Given the description of an element on the screen output the (x, y) to click on. 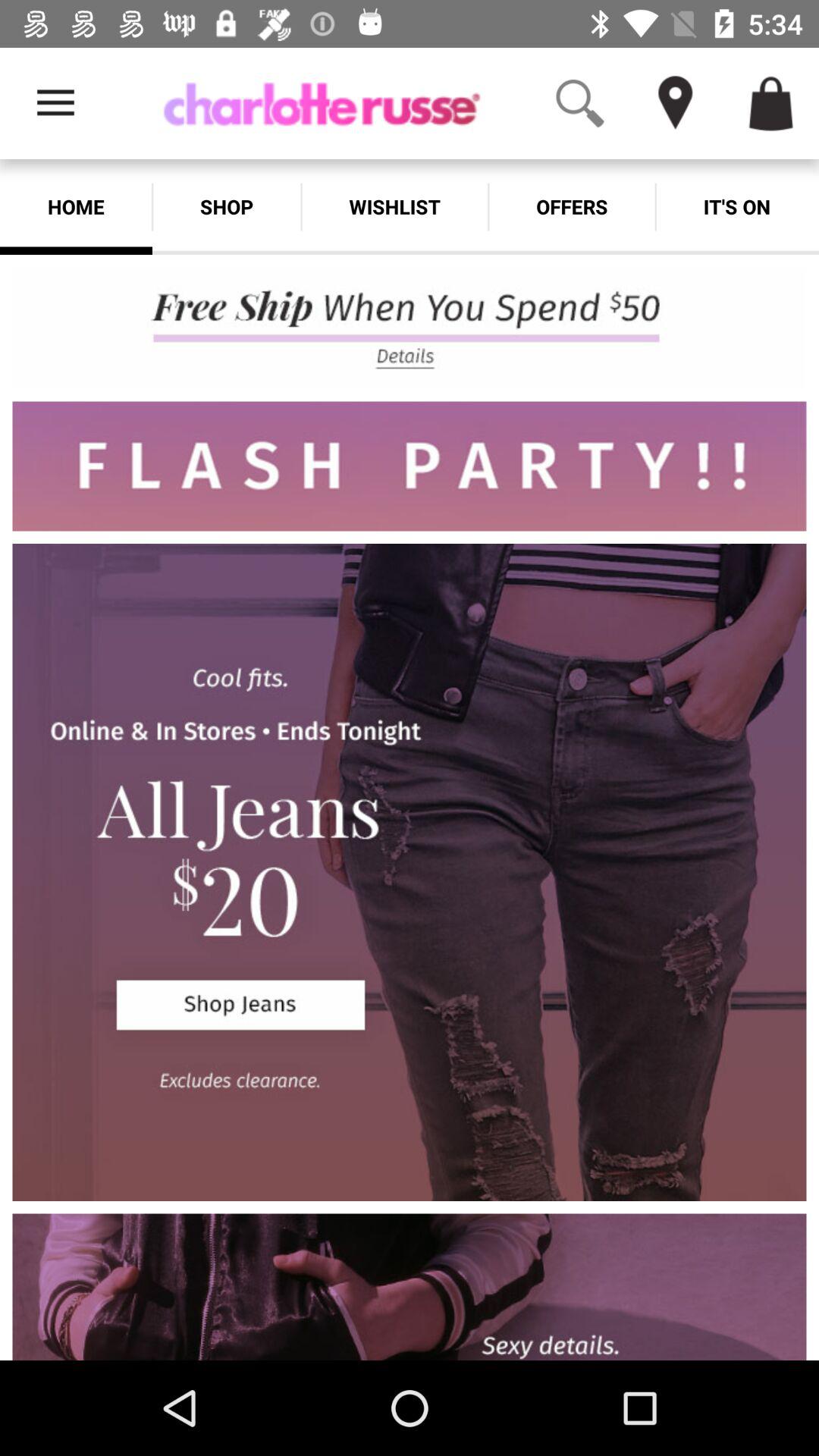
turn on the home item (76, 206)
